Given the description of an element on the screen output the (x, y) to click on. 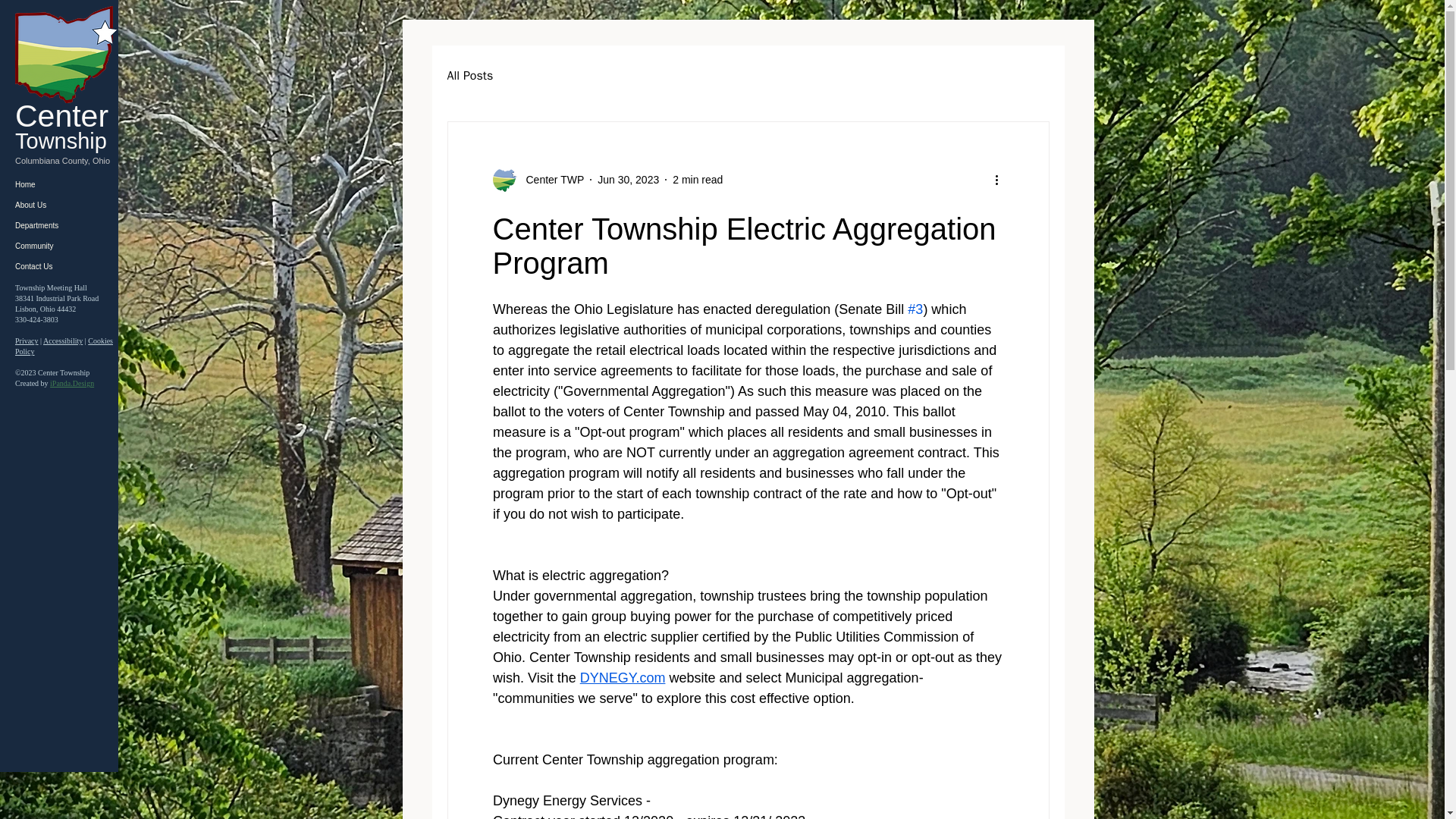
Center TWP (550, 179)
Accessibility (62, 340)
2 min read (697, 178)
iPanda.Design (71, 383)
Home (54, 184)
Cookies Policy (63, 345)
All Posts (469, 75)
Jun 30, 2023 (627, 178)
Privacy (26, 340)
DYNEGY.com (622, 677)
